Given the description of an element on the screen output the (x, y) to click on. 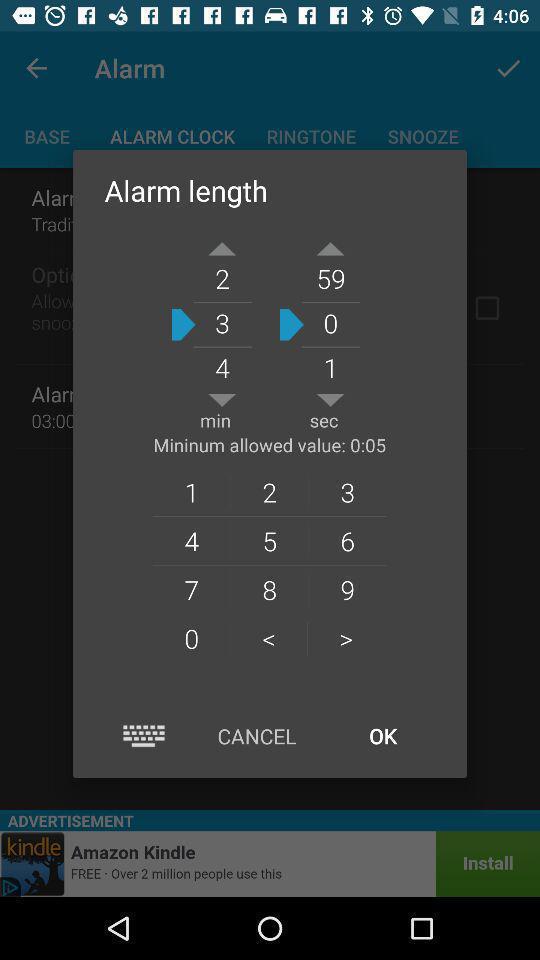
launch the item next to the ok (256, 735)
